Given the description of an element on the screen output the (x, y) to click on. 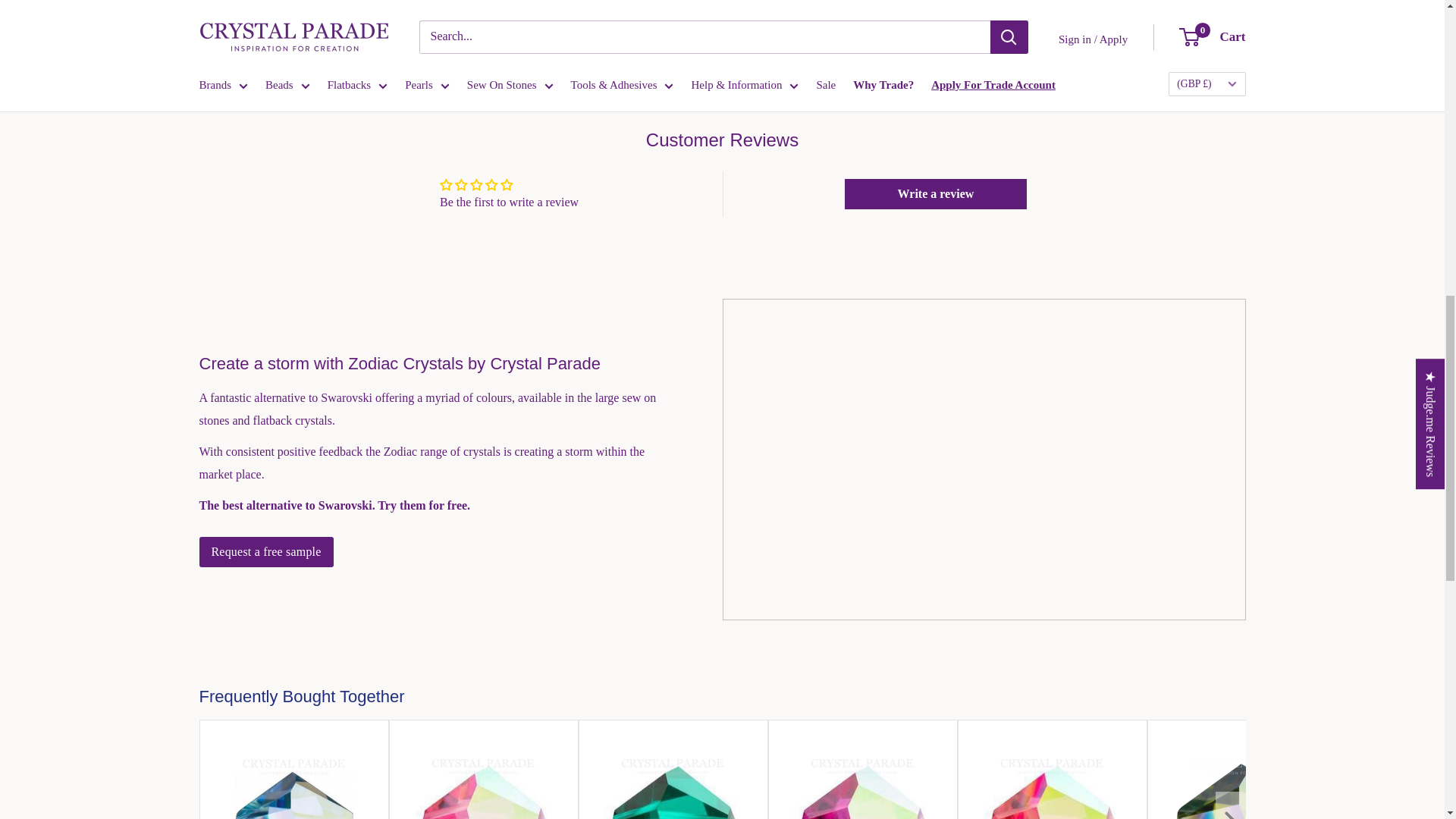
Preciosa Bicone Bead Fuchsia AB (863, 779)
Preciosa Bicone Bead Rose AB (483, 779)
Preciosa Bicone Bead Olivine AB (1241, 779)
Preciosa Bicone Bead Light Sapphire AB (293, 779)
Preciosa Bicone Bead Emerald (673, 779)
Preciosa Bicone Bead Indian Pink AB (1052, 779)
